Given the description of an element on the screen output the (x, y) to click on. 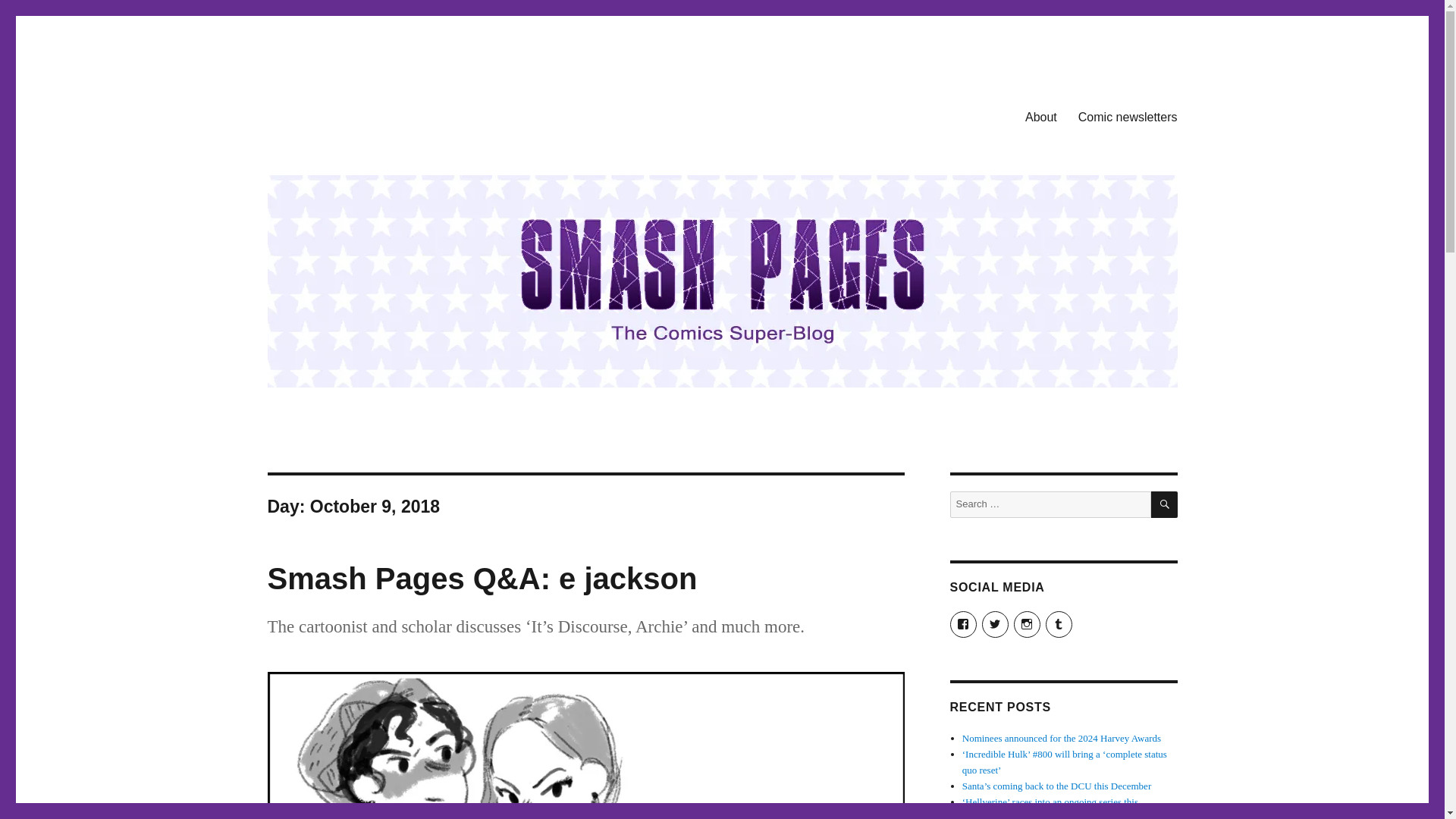
Comic newsletters (1127, 116)
About (1040, 116)
SMASH PAGES (344, 114)
